Given the description of an element on the screen output the (x, y) to click on. 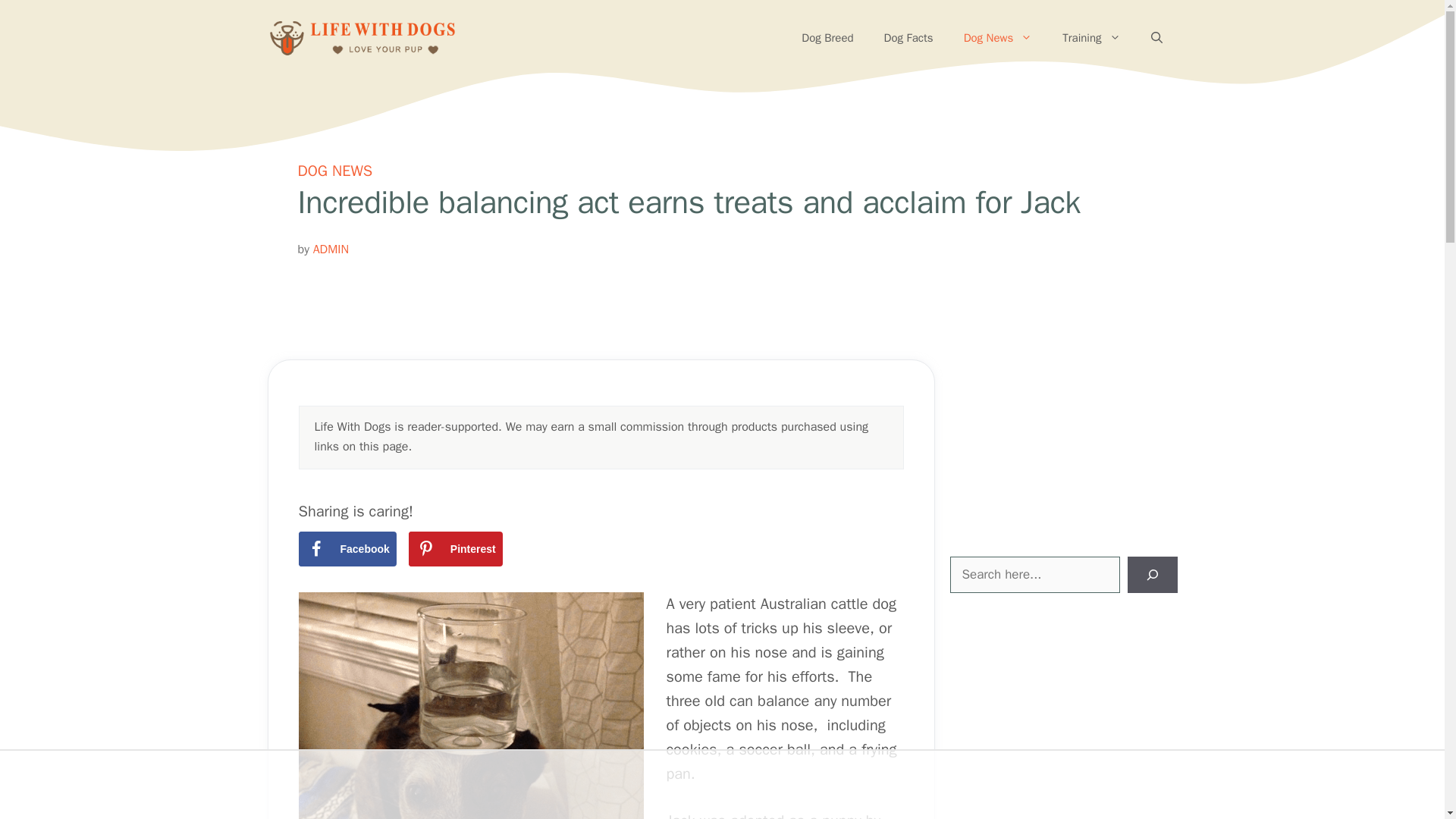
Dog Facts (909, 37)
Dog News (998, 37)
LIFE WITH DOGS (361, 37)
Share on Facebook (347, 548)
Dog Breed (826, 37)
Facebook (347, 548)
ADMIN (331, 249)
jack 3 (470, 705)
Training (1090, 37)
Pinterest (455, 548)
